Given the description of an element on the screen output the (x, y) to click on. 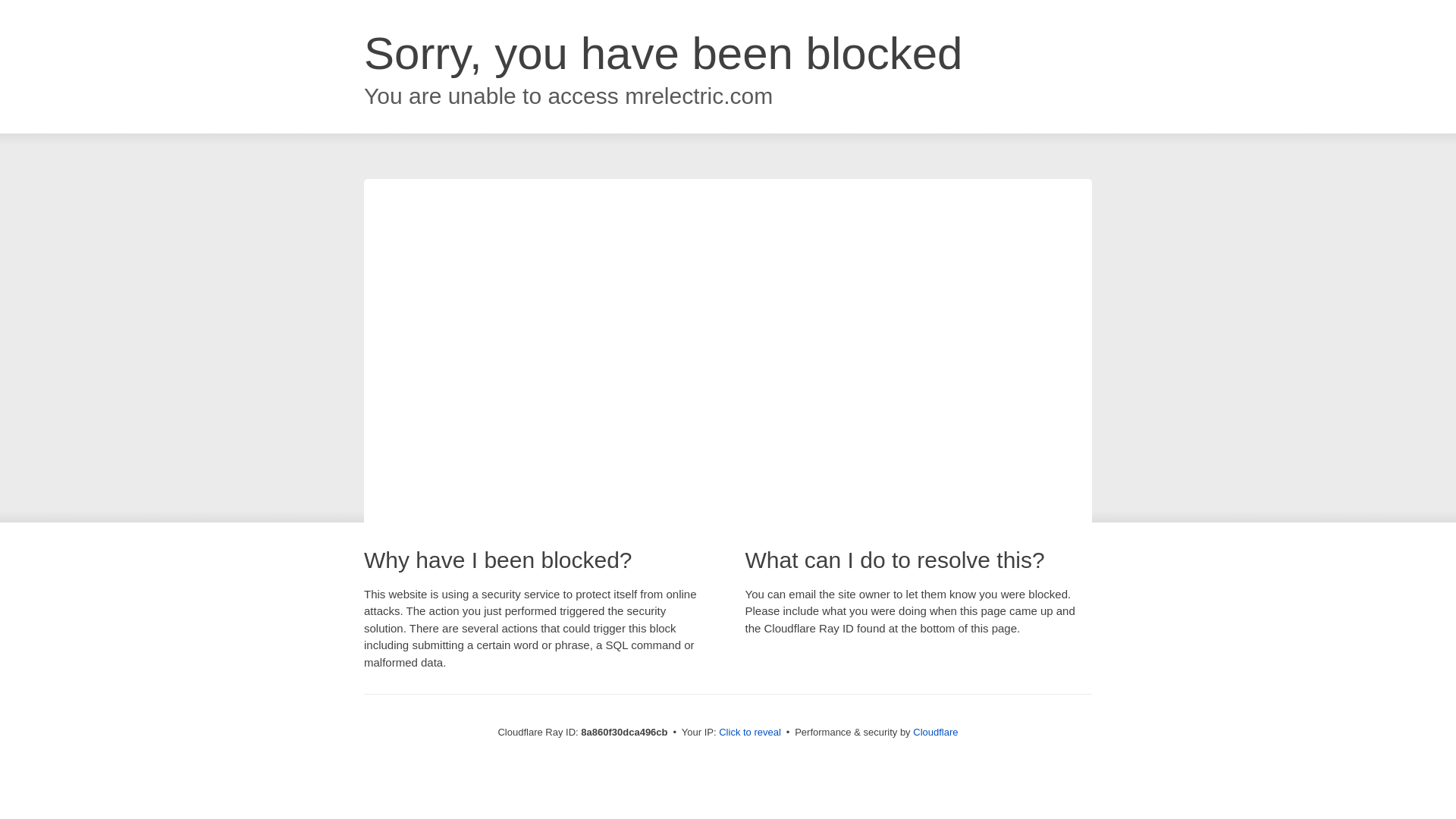
Click to reveal (749, 732)
Cloudflare (935, 731)
